Given the description of an element on the screen output the (x, y) to click on. 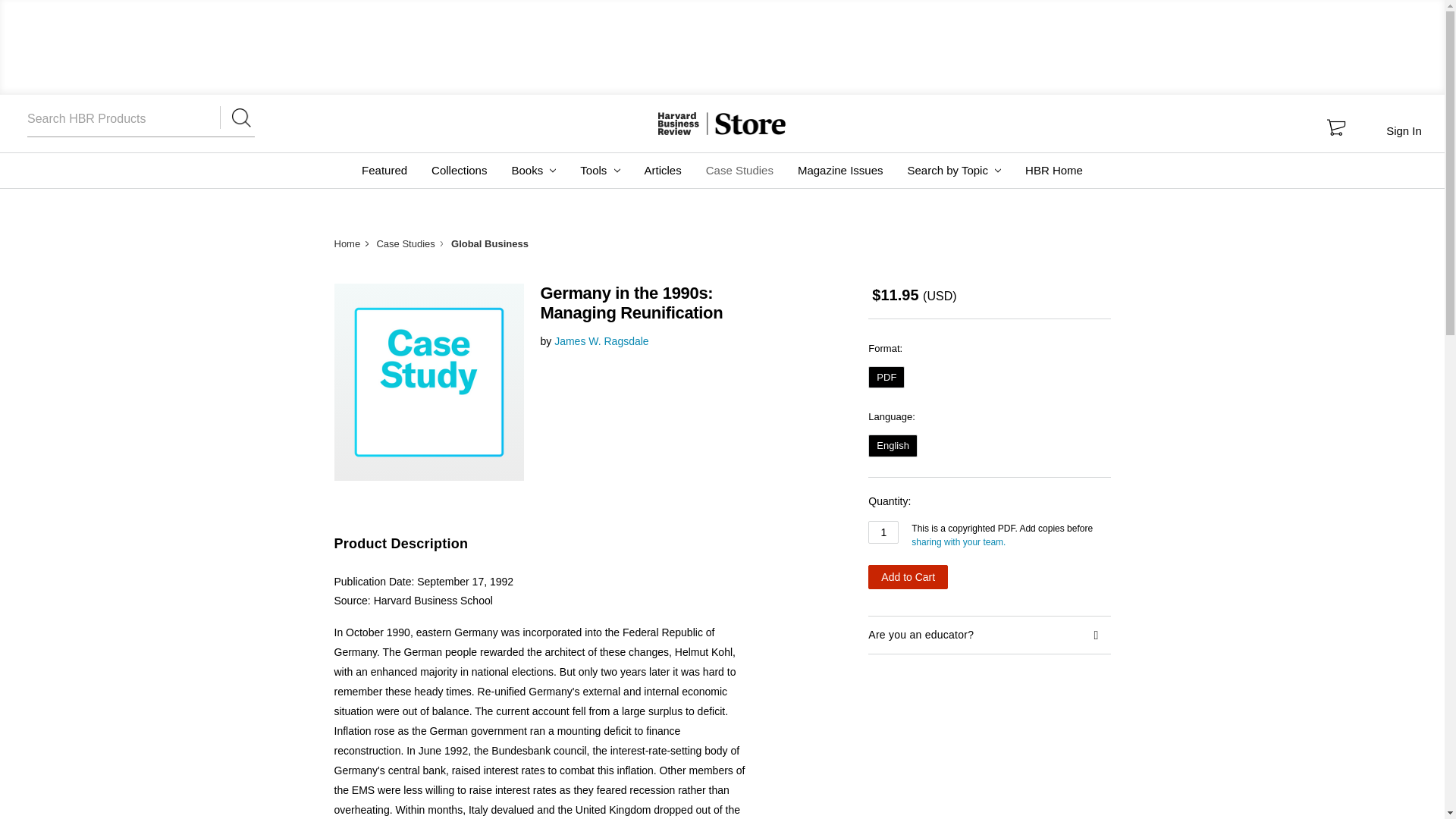
Opens a widget where you can find more information (1398, 792)
Tools (599, 170)
Articles (662, 170)
Books (533, 170)
